Given the description of an element on the screen output the (x, y) to click on. 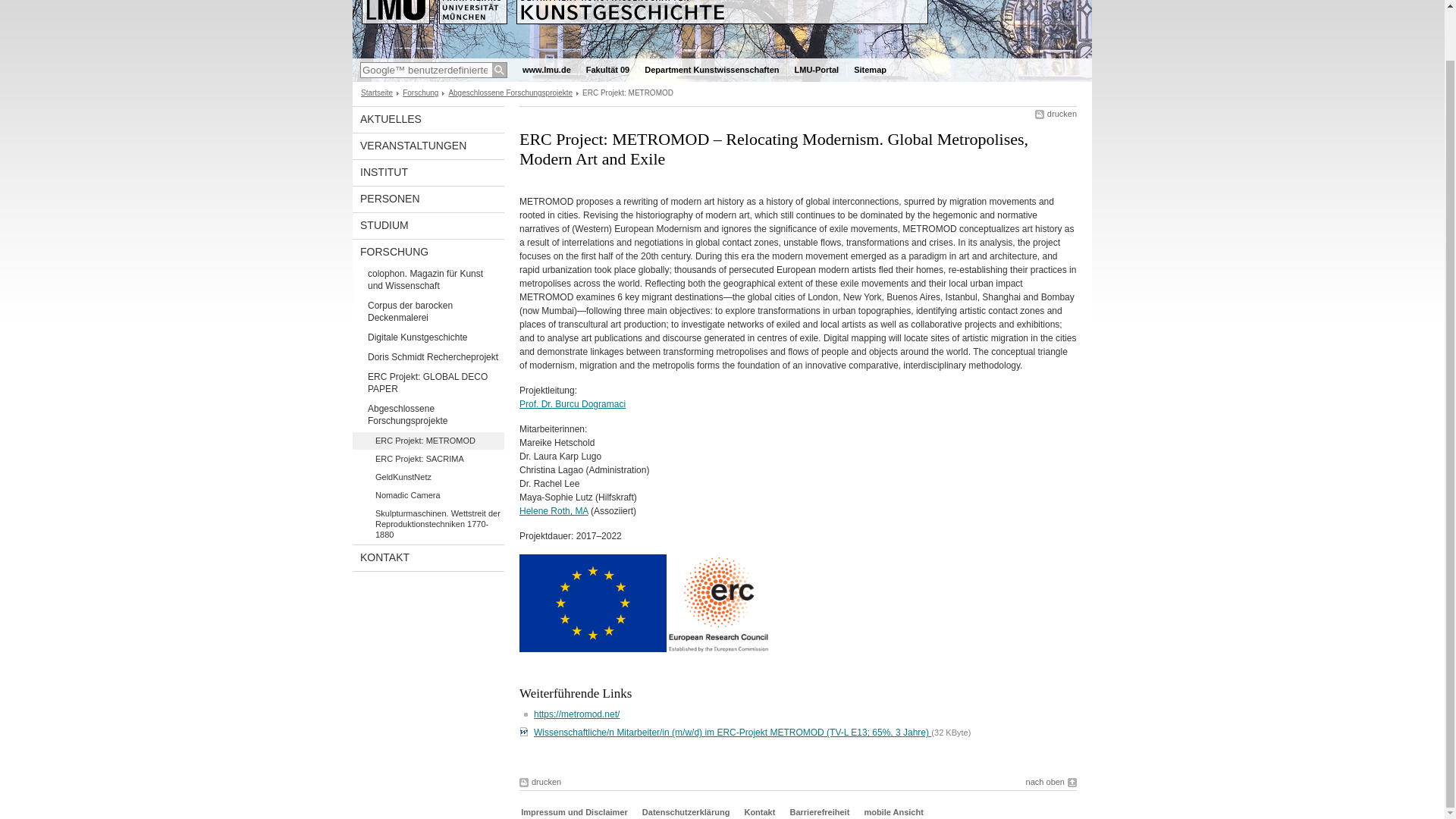
INSTITUT (427, 172)
www.lmu.de - Startseite (546, 69)
ERC Projekt: SACRIMA (427, 458)
Startseite (377, 92)
Dr. Laura Karp Lugo (560, 456)
LMU-Portal (817, 69)
Department Kunstwissenschaften (711, 69)
Suchen (499, 69)
drucken (1056, 113)
